Given the description of an element on the screen output the (x, y) to click on. 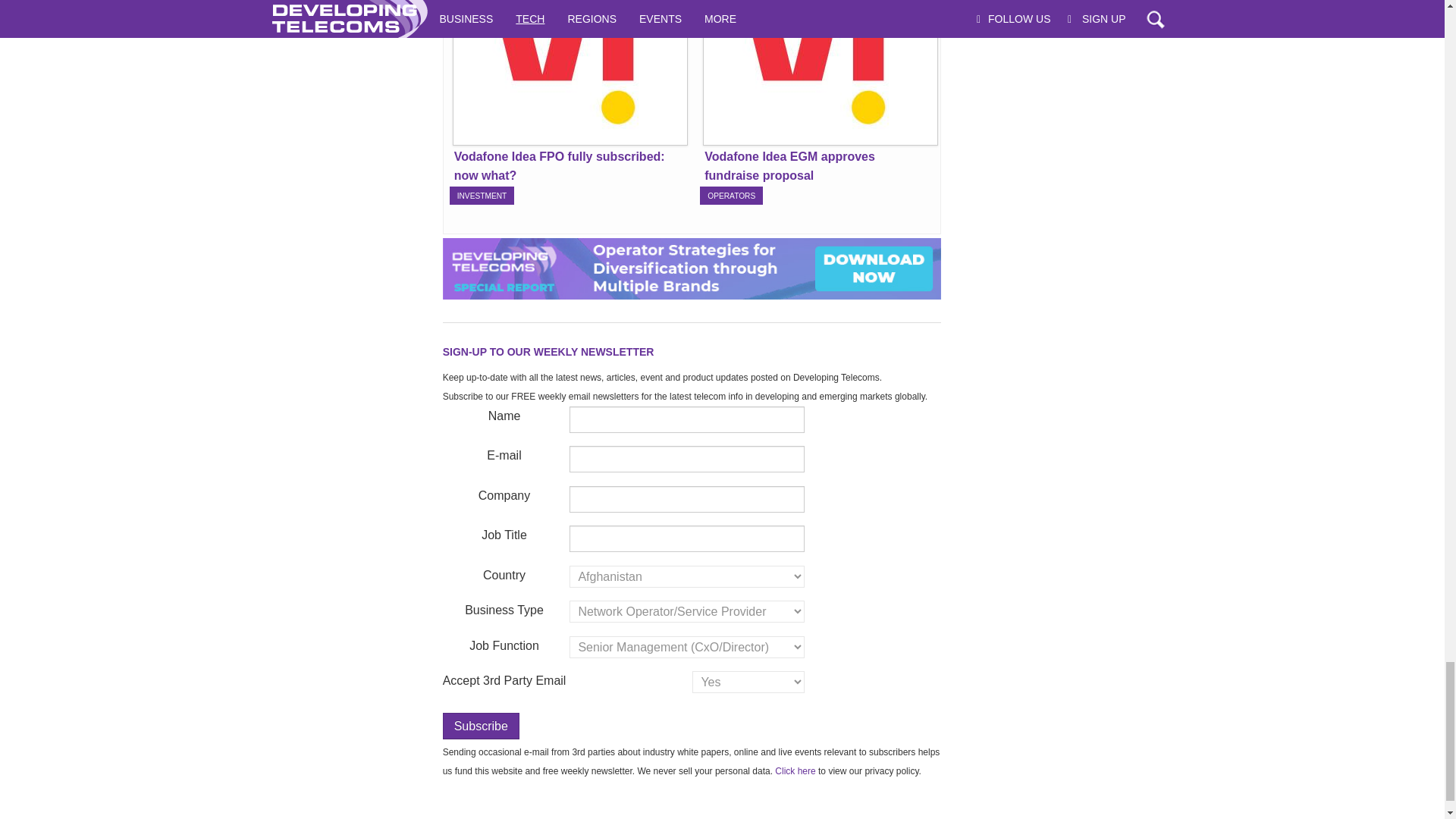
Subscribe (480, 725)
